Given the description of an element on the screen output the (x, y) to click on. 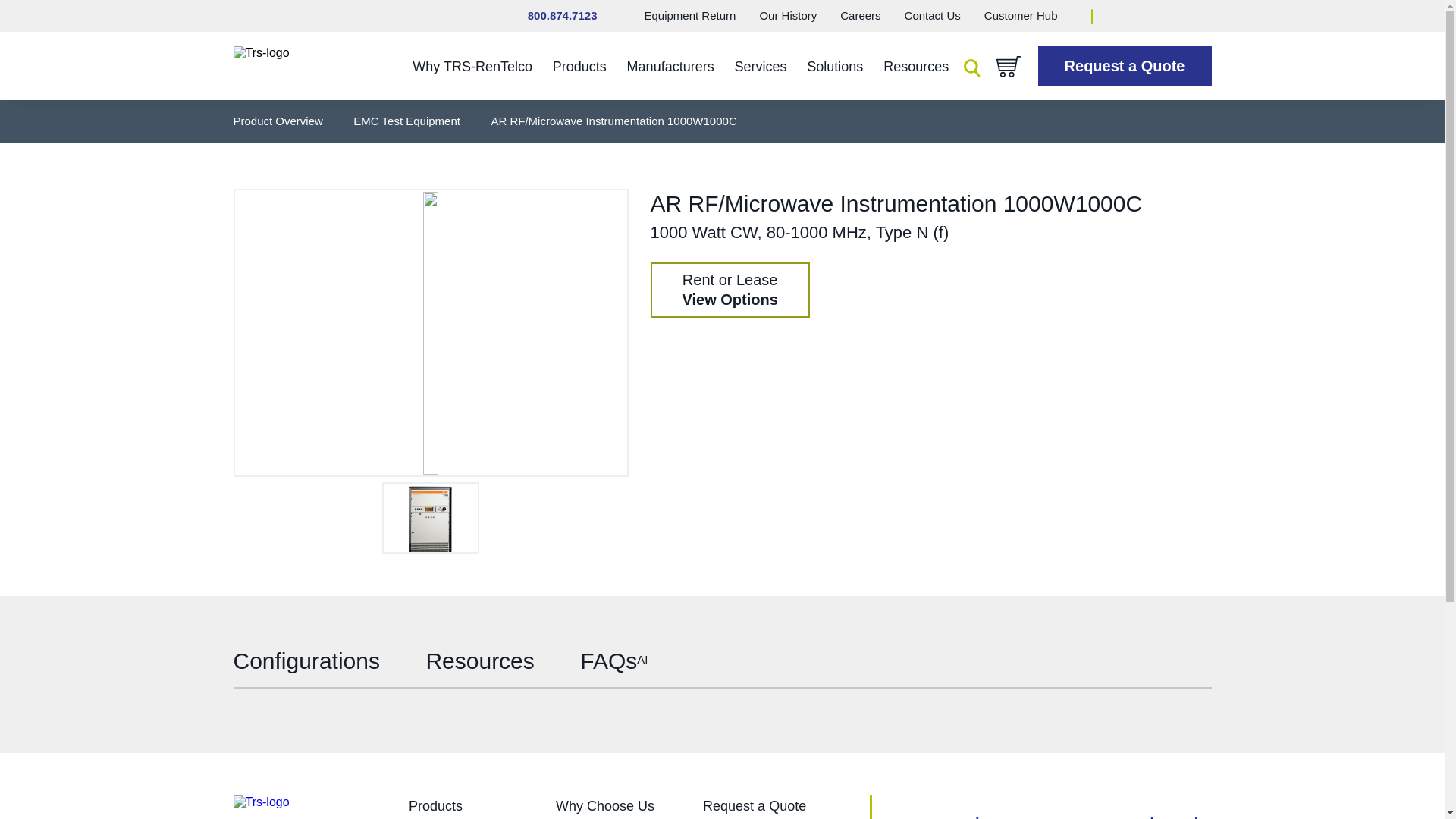
Careers (860, 15)
800.874.7123 (561, 15)
Customer Hub (729, 289)
Why TRS-RenTelco (1021, 15)
Equipment Return (472, 66)
Products (689, 15)
Customer Hub link (580, 66)
Our History (1021, 15)
Contact Us (787, 15)
